Given the description of an element on the screen output the (x, y) to click on. 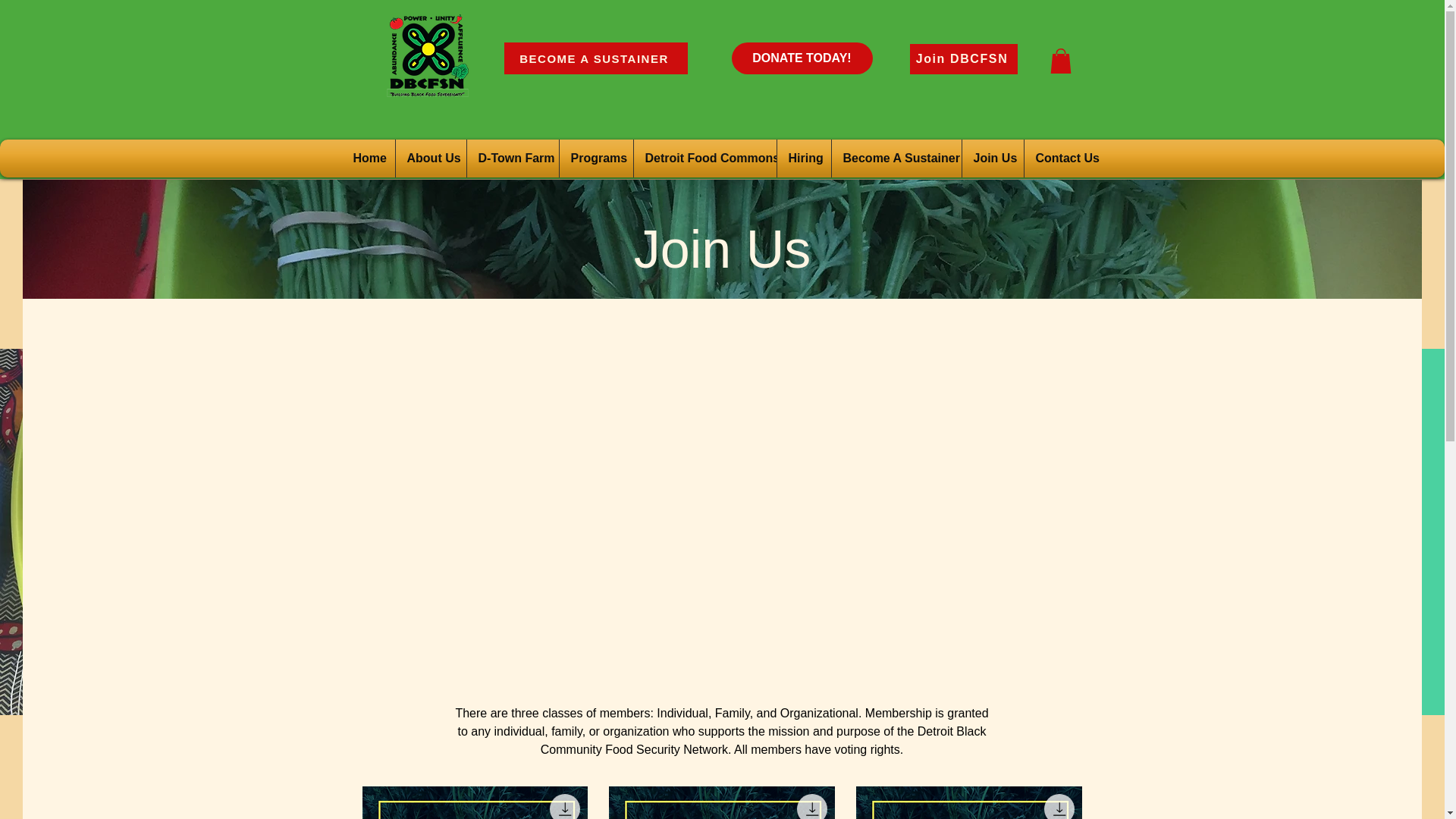
DONATE TODAY! (801, 58)
BECOME A SUSTAINER (595, 58)
Hiring (803, 158)
About Us (429, 158)
Home (368, 158)
Contact Us (1063, 158)
Become A Sustainer (896, 158)
Programs (595, 158)
Detroit Food Commons (704, 158)
D-Town Farm (512, 158)
Join DBCFSN (963, 59)
Join Us (993, 158)
